Given the description of an element on the screen output the (x, y) to click on. 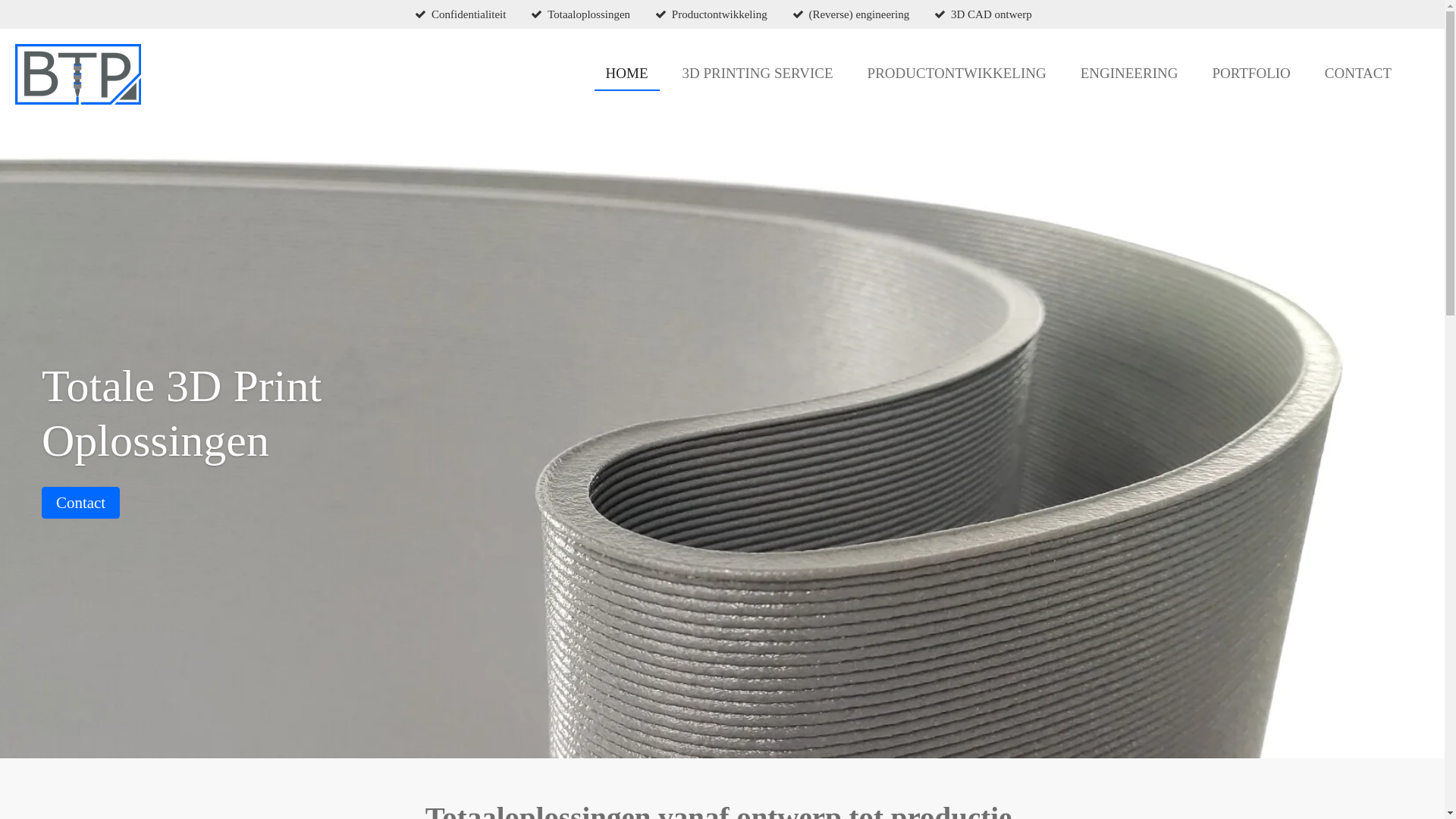
CONTACT Element type: text (1357, 73)
PORTFOLIO Element type: text (1250, 73)
Contact Element type: text (80, 502)
HOME Element type: text (626, 73)
PRODUCTONTWIKKELING Element type: text (956, 73)
Bulcke Technical Printing Element type: hover (78, 73)
ENGINEERING Element type: text (1129, 73)
3D PRINTING SERVICE Element type: text (757, 73)
